Given the description of an element on the screen output the (x, y) to click on. 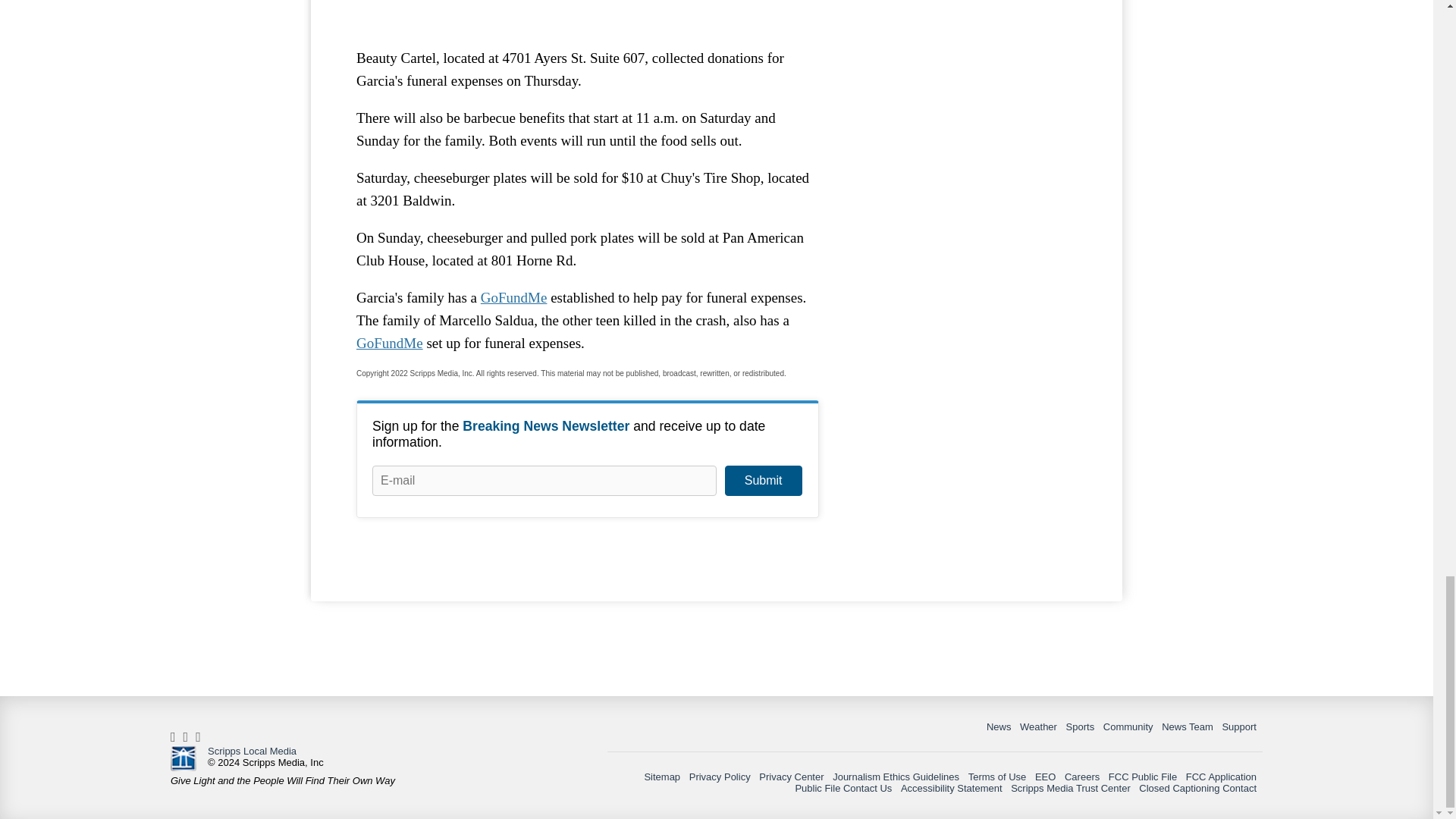
Submit (763, 481)
